Given the description of an element on the screen output the (x, y) to click on. 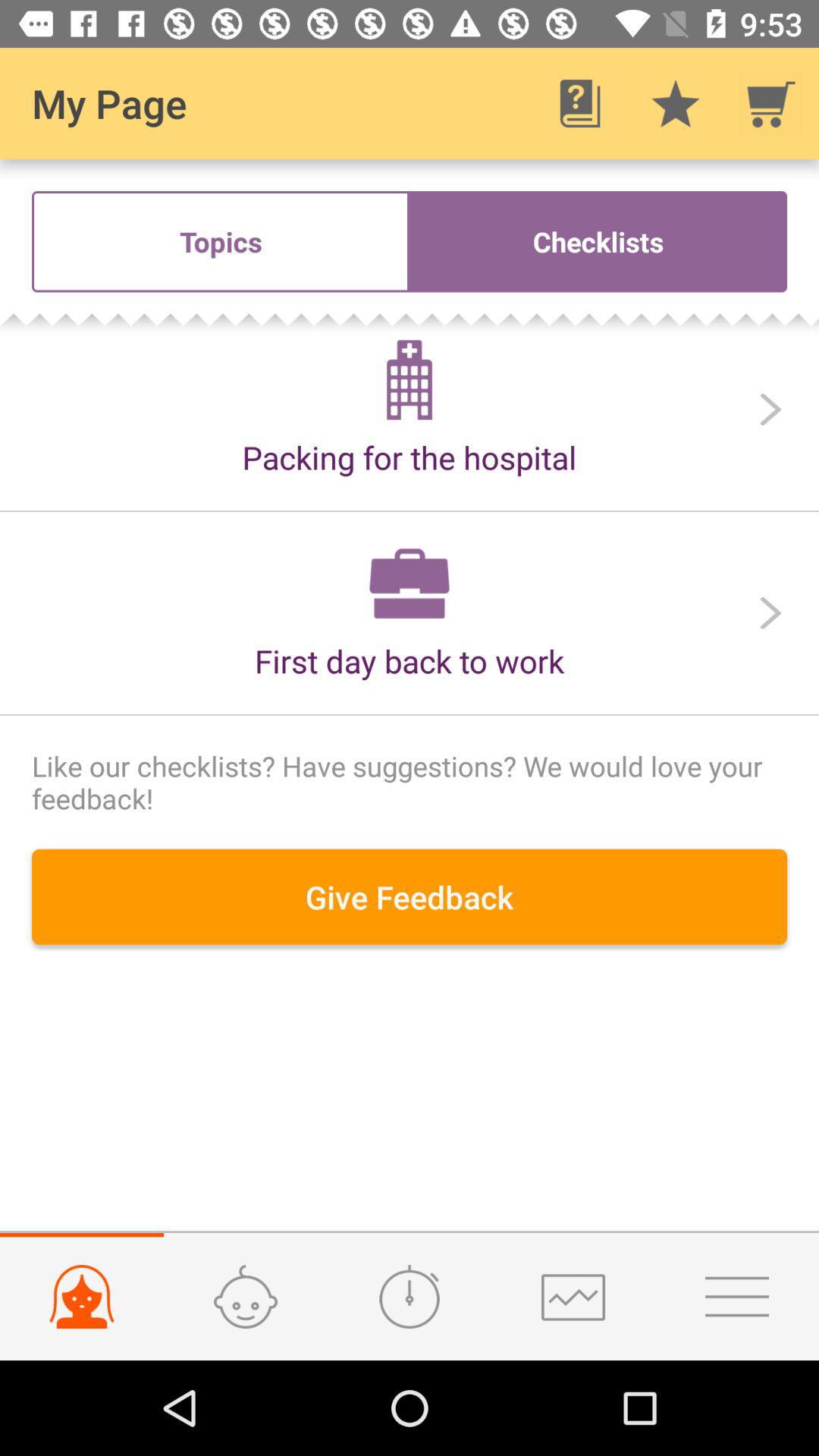
open the icon next to checklists item (220, 241)
